Given the description of an element on the screen output the (x, y) to click on. 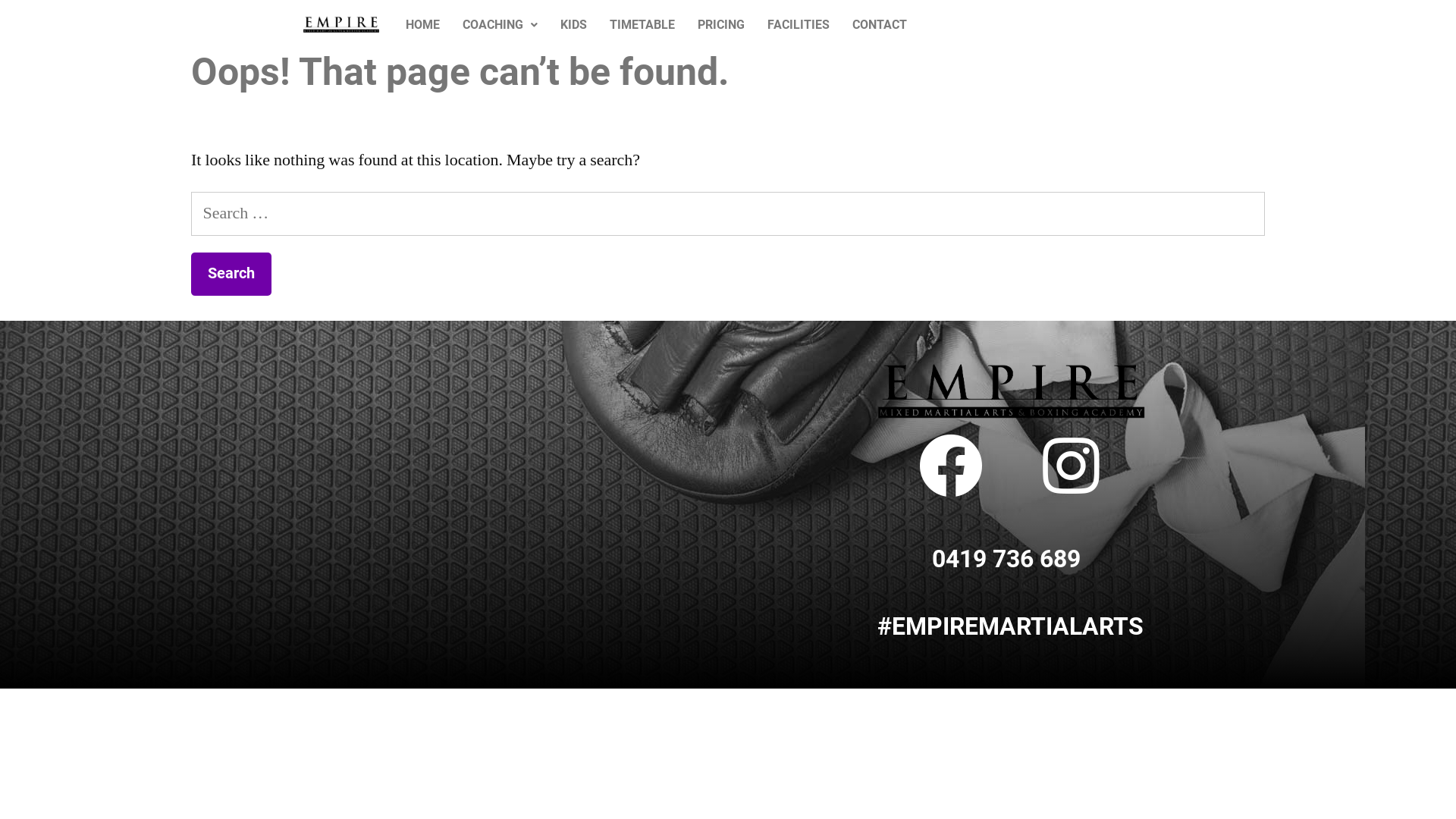
TIMETABLE Element type: text (642, 24)
Search Element type: text (231, 273)
PRICING Element type: text (721, 24)
COACHING Element type: text (500, 24)
FACILITIES Element type: text (798, 24)
4/3 Northward st, Upper Coomera Element type: hover (409, 448)
HOME Element type: text (422, 24)
CONTACT Element type: text (879, 24)
KIDS Element type: text (573, 24)
